Given the description of an element on the screen output the (x, y) to click on. 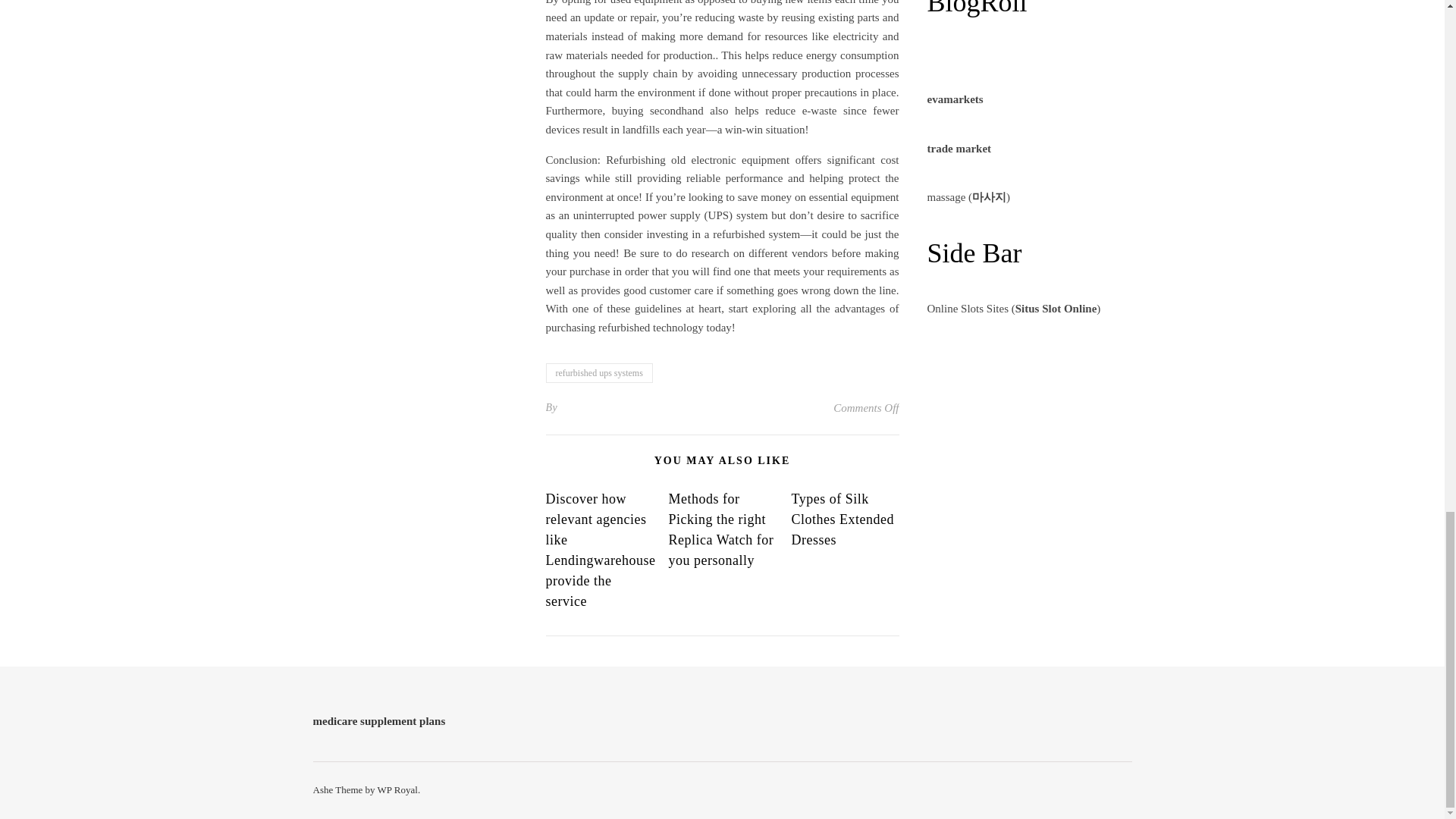
trade market (958, 148)
evamarkets (954, 99)
Types of Silk Clothes Extended Dresses (841, 519)
refurbished ups systems (599, 373)
